Given the description of an element on the screen output the (x, y) to click on. 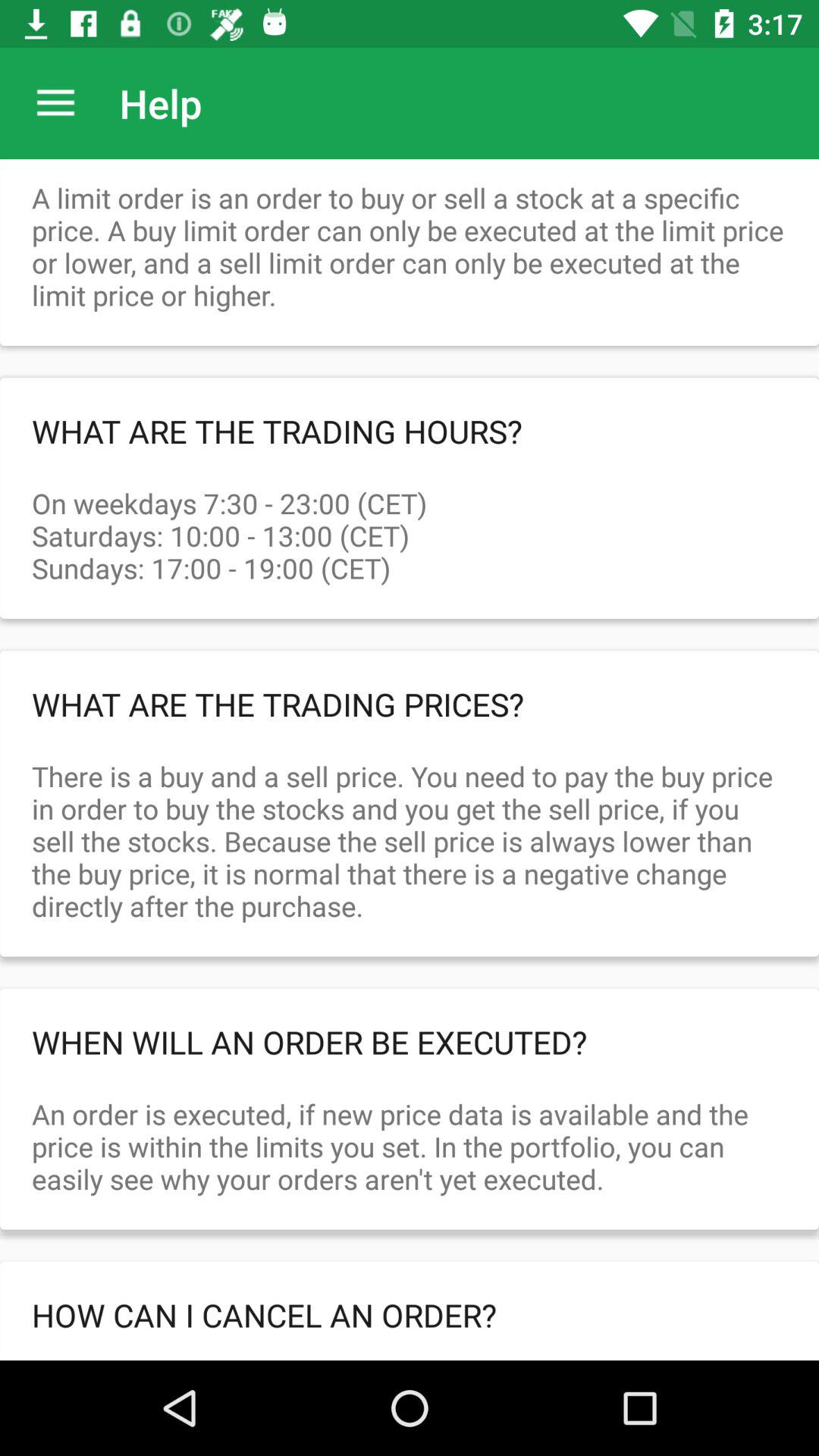
open item above the tap the order icon (409, 1314)
